Given the description of an element on the screen output the (x, y) to click on. 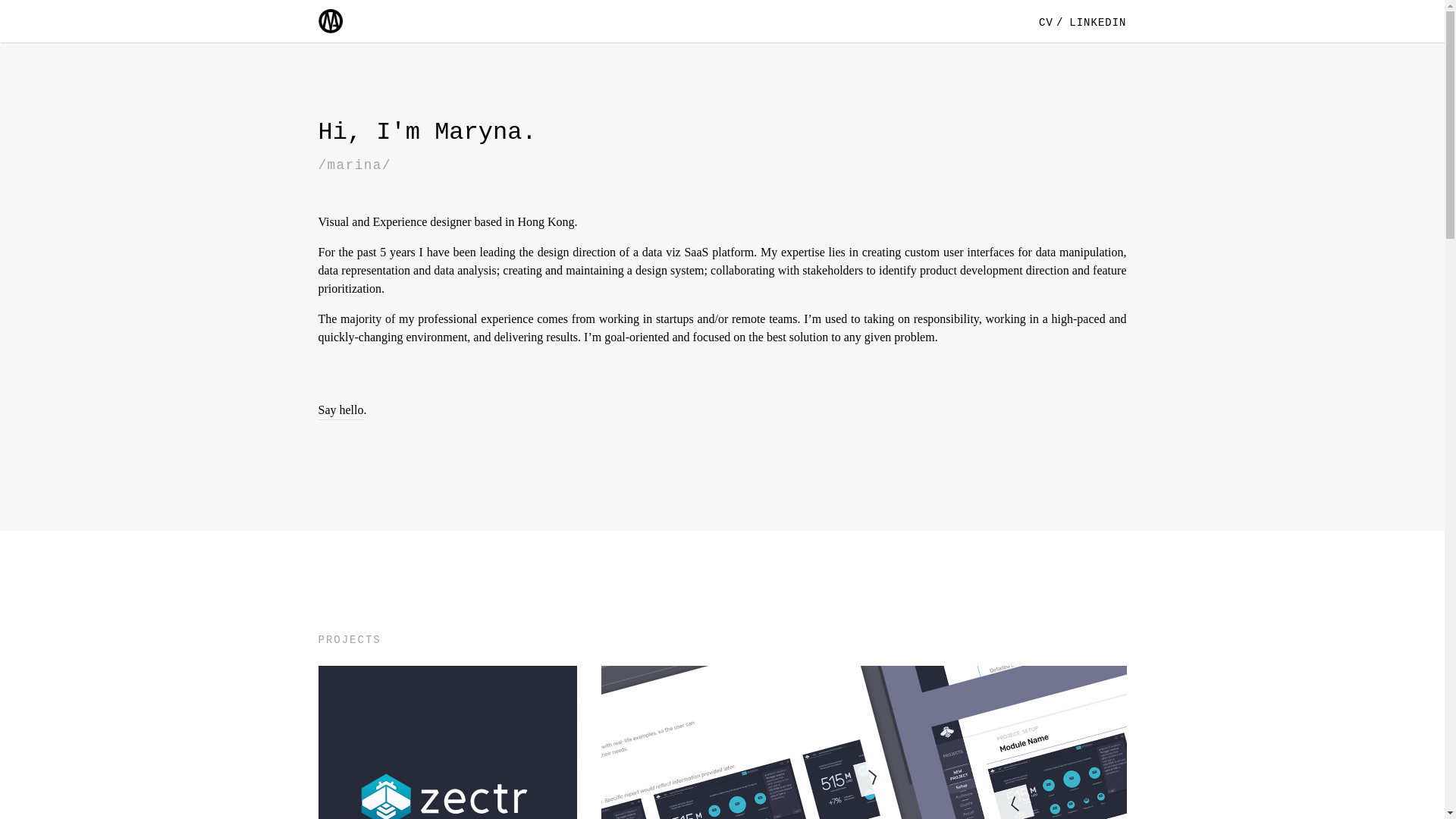
CV (1050, 22)
Maryna Aleksandrova, designer (330, 21)
Say hello (341, 410)
LINKEDIN (1095, 22)
